Given the description of an element on the screen output the (x, y) to click on. 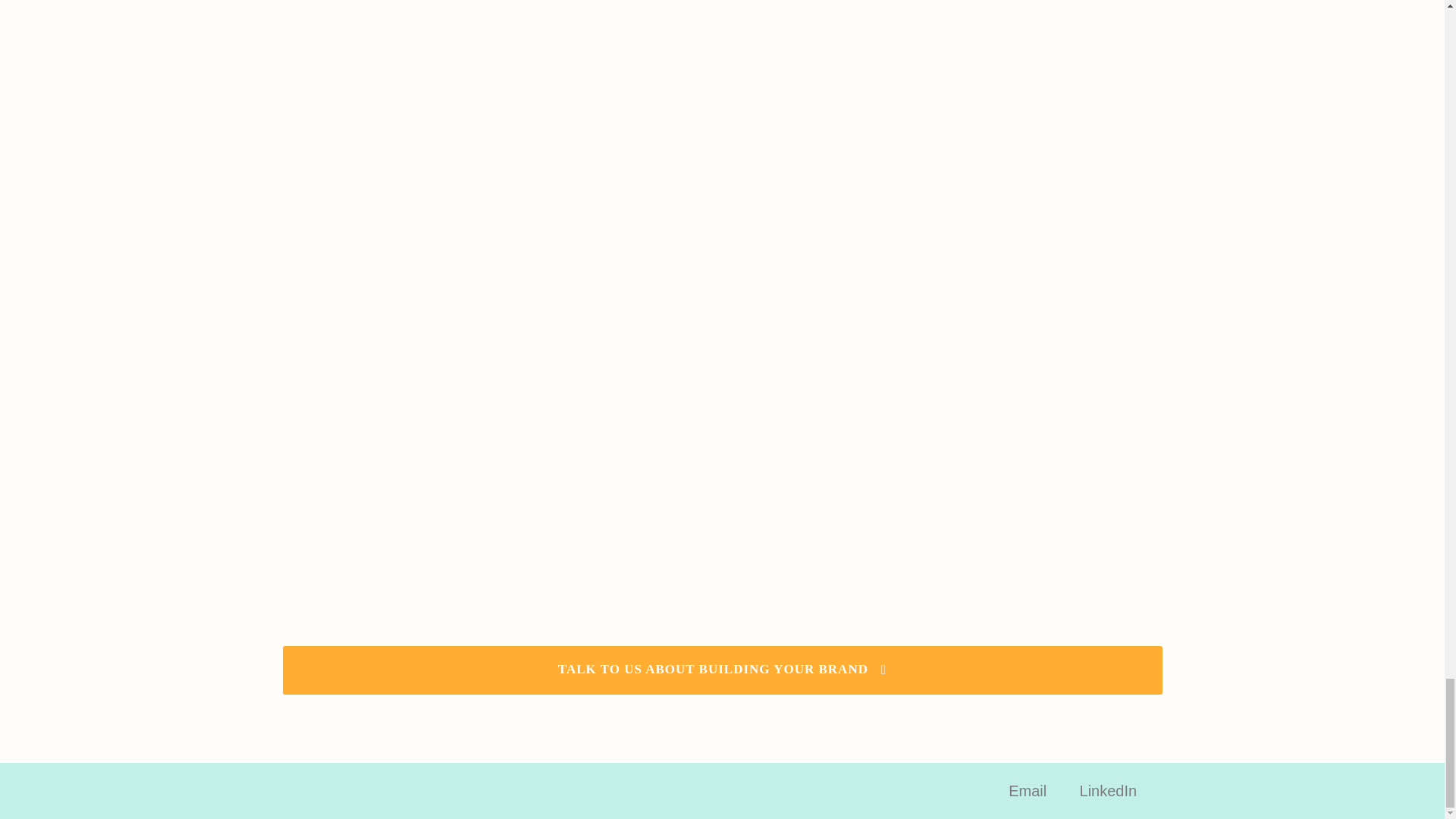
LinkedIn (1108, 790)
TALK TO US ABOUT BUILDING YOUR BRAND (721, 670)
Email (1027, 790)
